Given the description of an element on the screen output the (x, y) to click on. 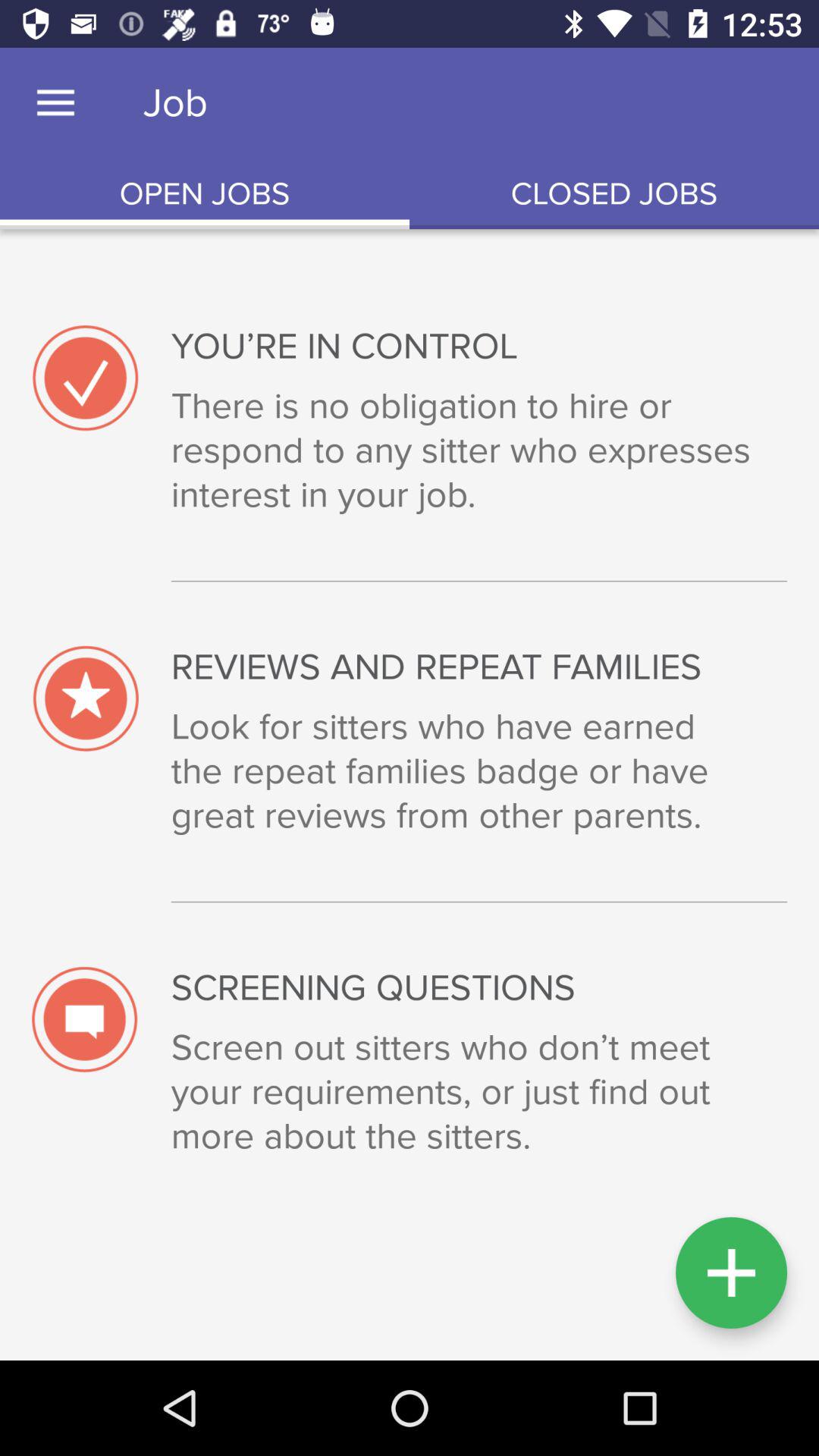
flip to the open jobs item (204, 194)
